Given the description of an element on the screen output the (x, y) to click on. 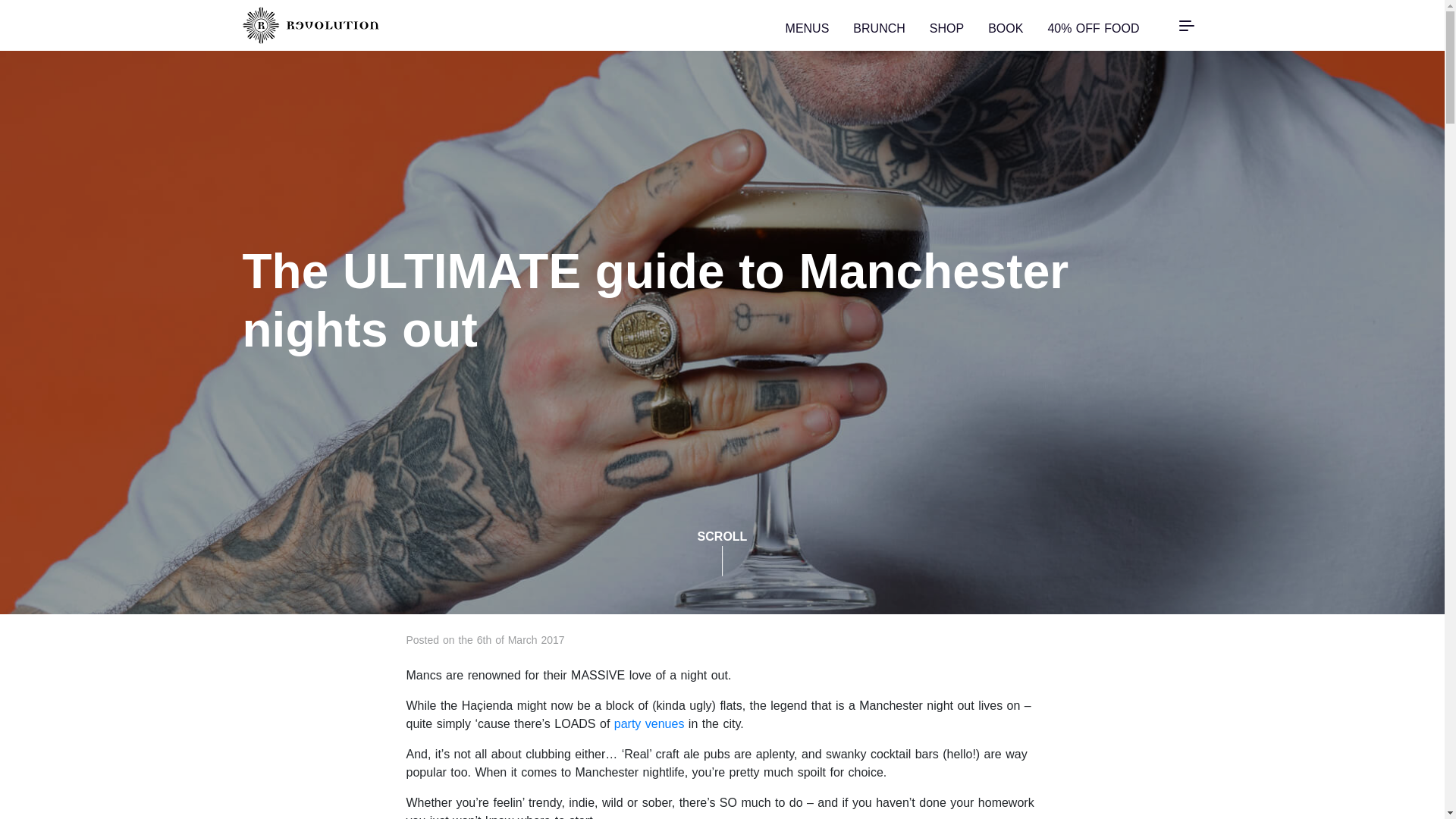
party venues (649, 723)
SHOP (946, 25)
BRUNCH (878, 25)
MENUS (807, 25)
BOOK (1005, 25)
